Given the description of an element on the screen output the (x, y) to click on. 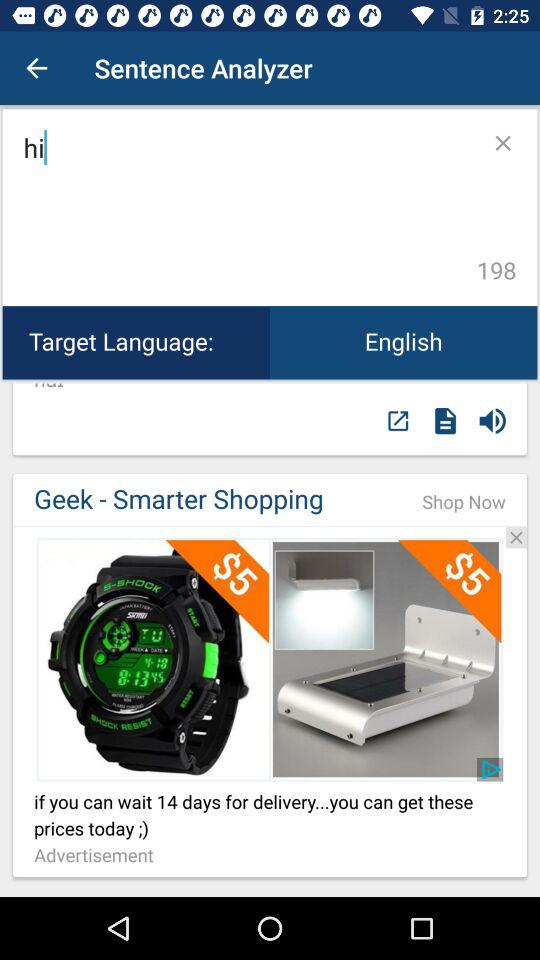
clcik on shop now (269, 526)
